Given the description of an element on the screen output the (x, y) to click on. 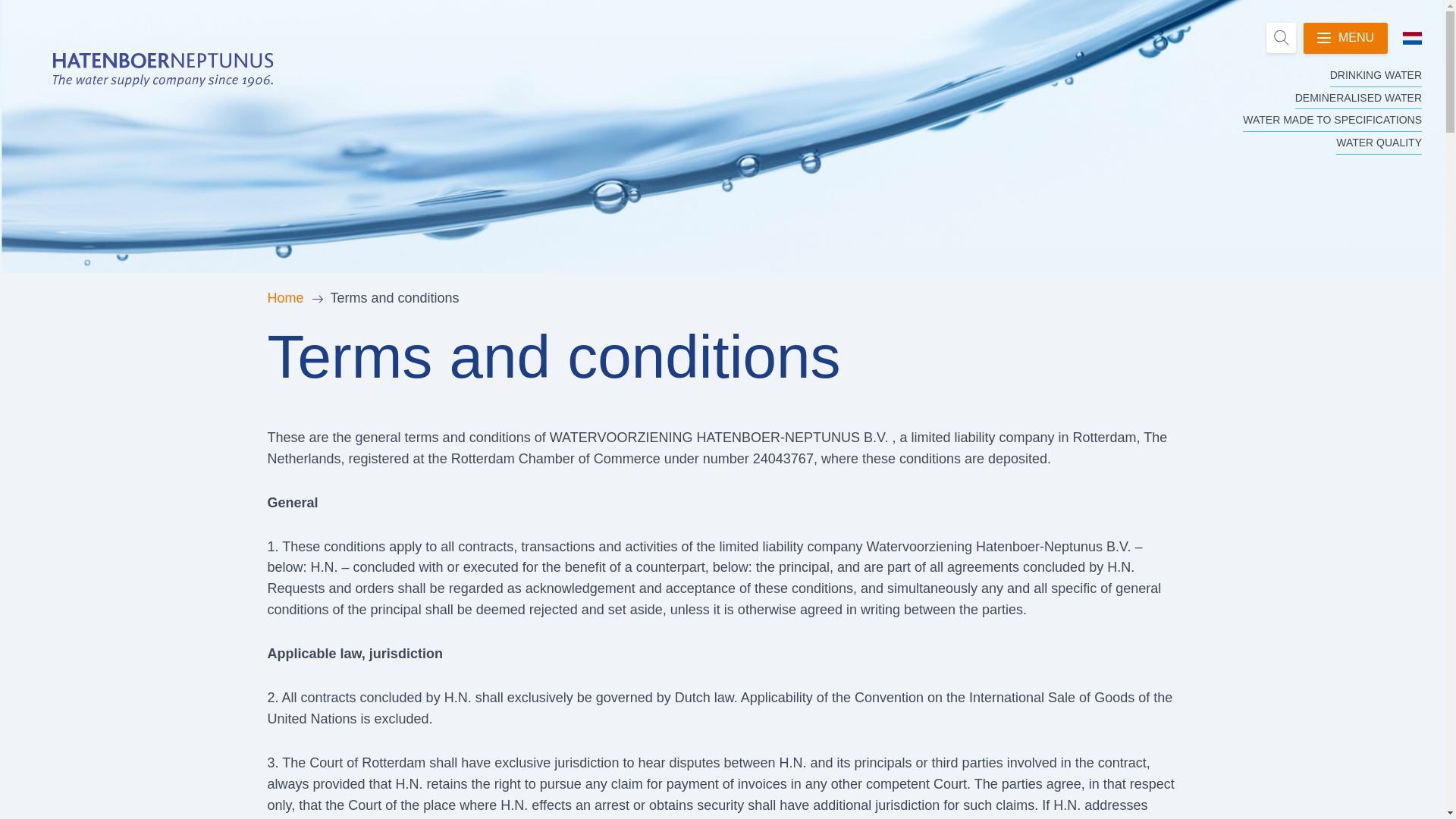
Drinking water (1376, 75)
Demineralised water (1358, 97)
search (1243, 37)
Water made to specifications (1332, 119)
Water Quality (1379, 142)
Terms and conditions (395, 298)
Show navigation (1345, 38)
Home (284, 298)
MENU (1345, 38)
WATER QUALITY (1379, 142)
